Given the description of an element on the screen output the (x, y) to click on. 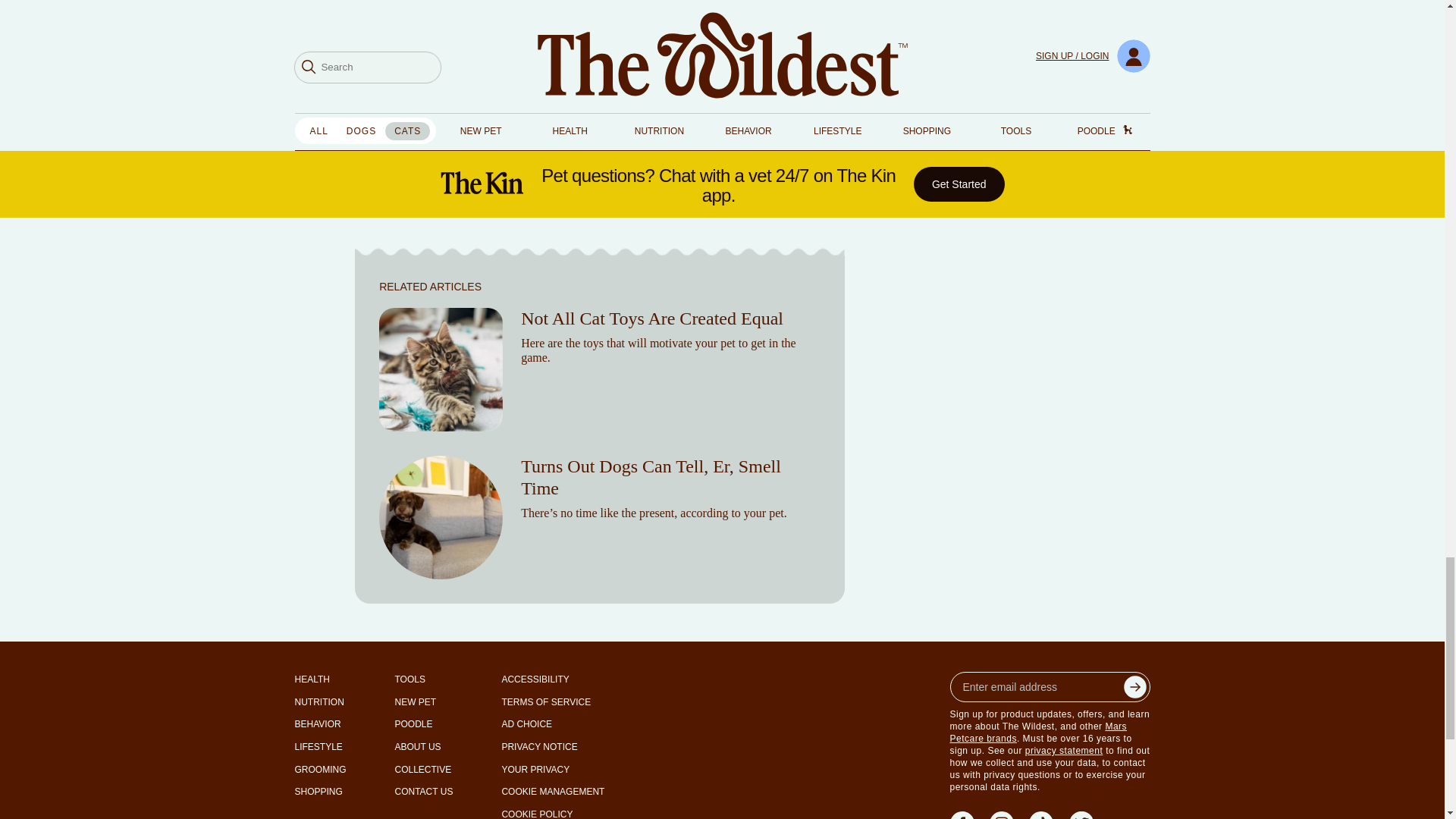
Website (827, 178)
